Given the description of an element on the screen output the (x, y) to click on. 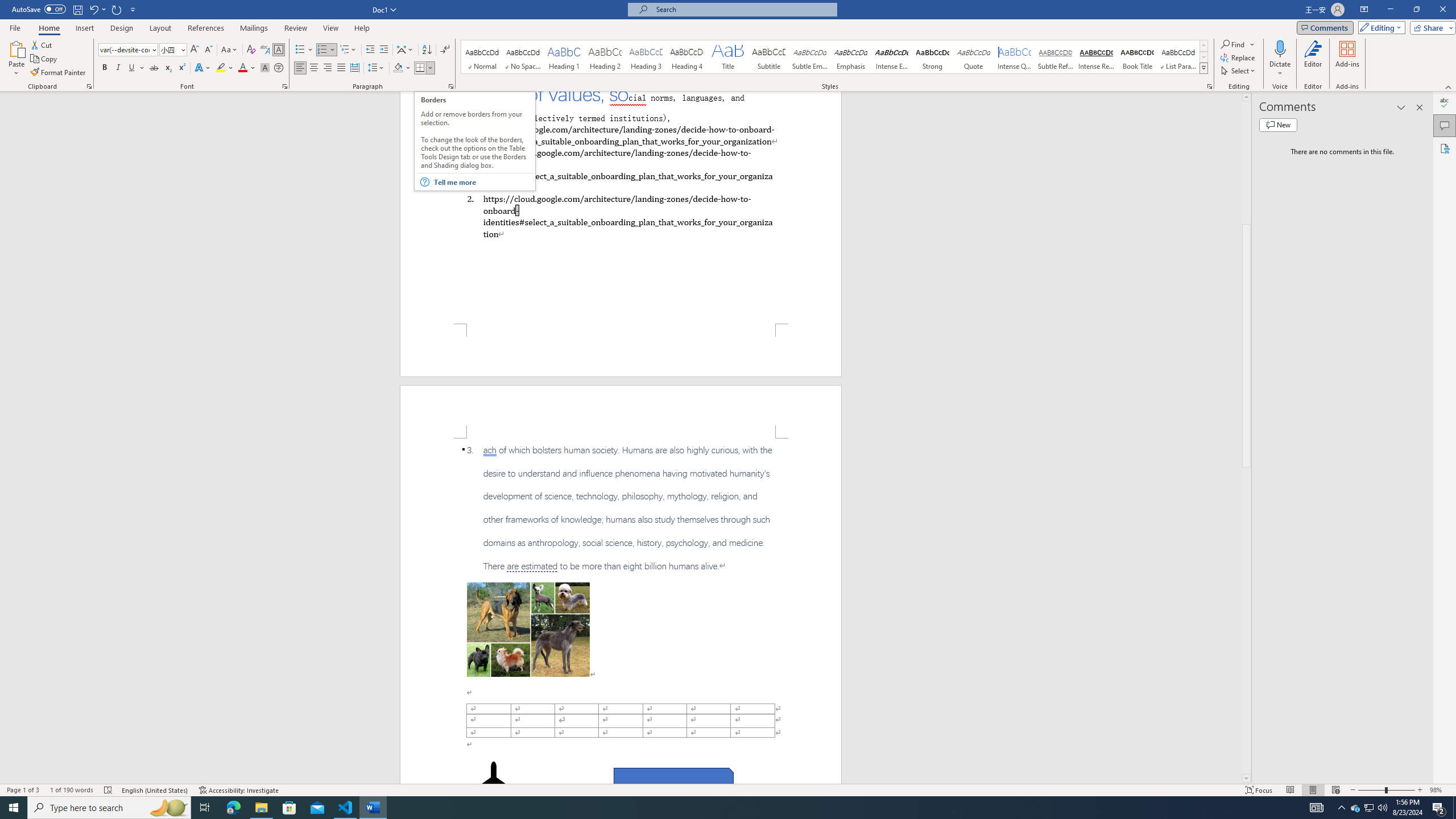
2. (620, 216)
3. (620, 507)
Font Color Automatic (241, 67)
